Given the description of an element on the screen output the (x, y) to click on. 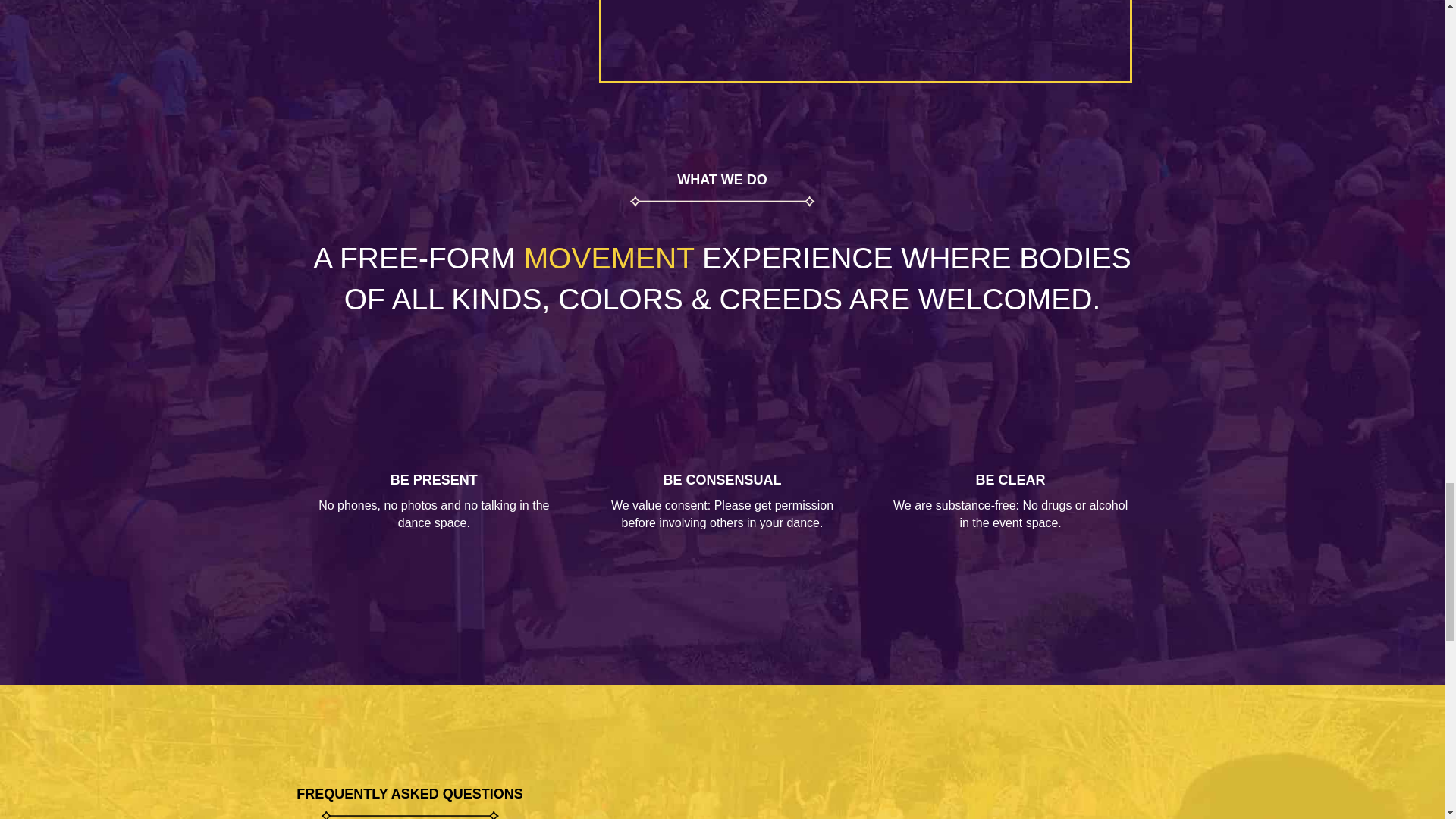
flourishes-10 (722, 201)
dividerBALCK (409, 811)
The Sol Dance Experience (865, 40)
